Given the description of an element on the screen output the (x, y) to click on. 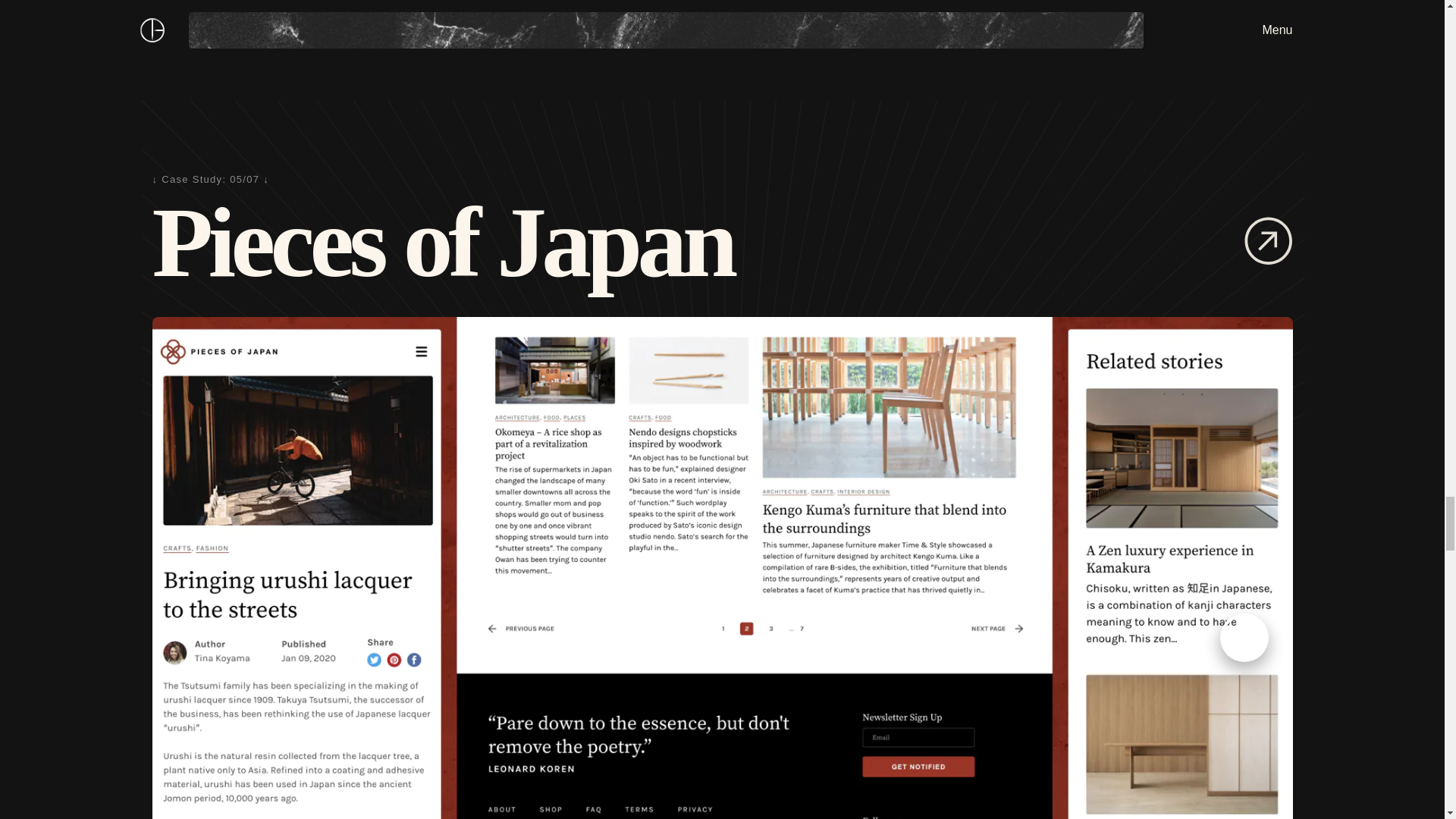
View Project: Pieces of Japan (1267, 243)
